Given the description of an element on the screen output the (x, y) to click on. 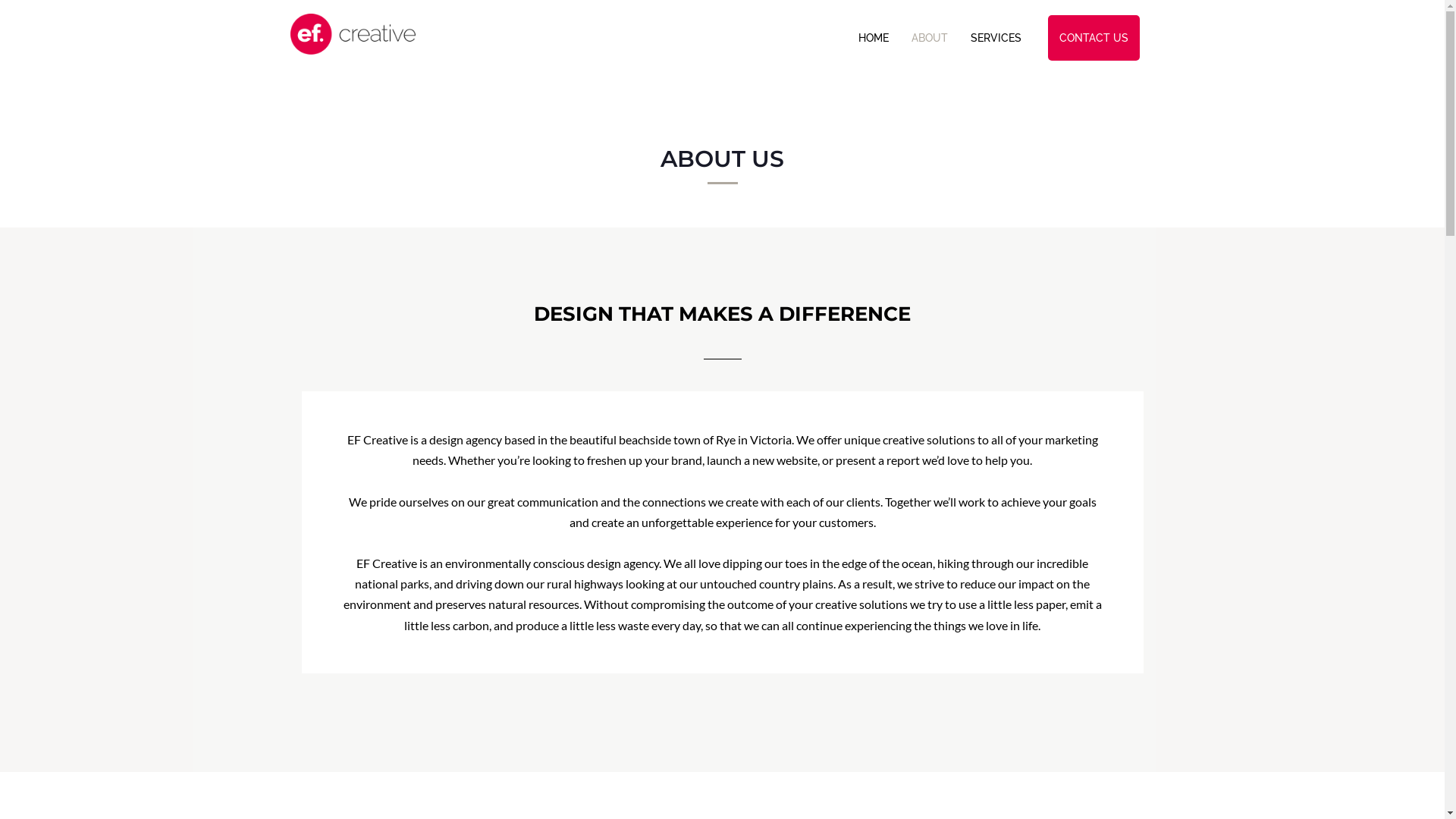
HOME Element type: text (872, 37)
SERVICES Element type: text (995, 37)
ABOUT Element type: text (928, 37)
CONTACT US Element type: text (1093, 37)
